Given the description of an element on the screen output the (x, y) to click on. 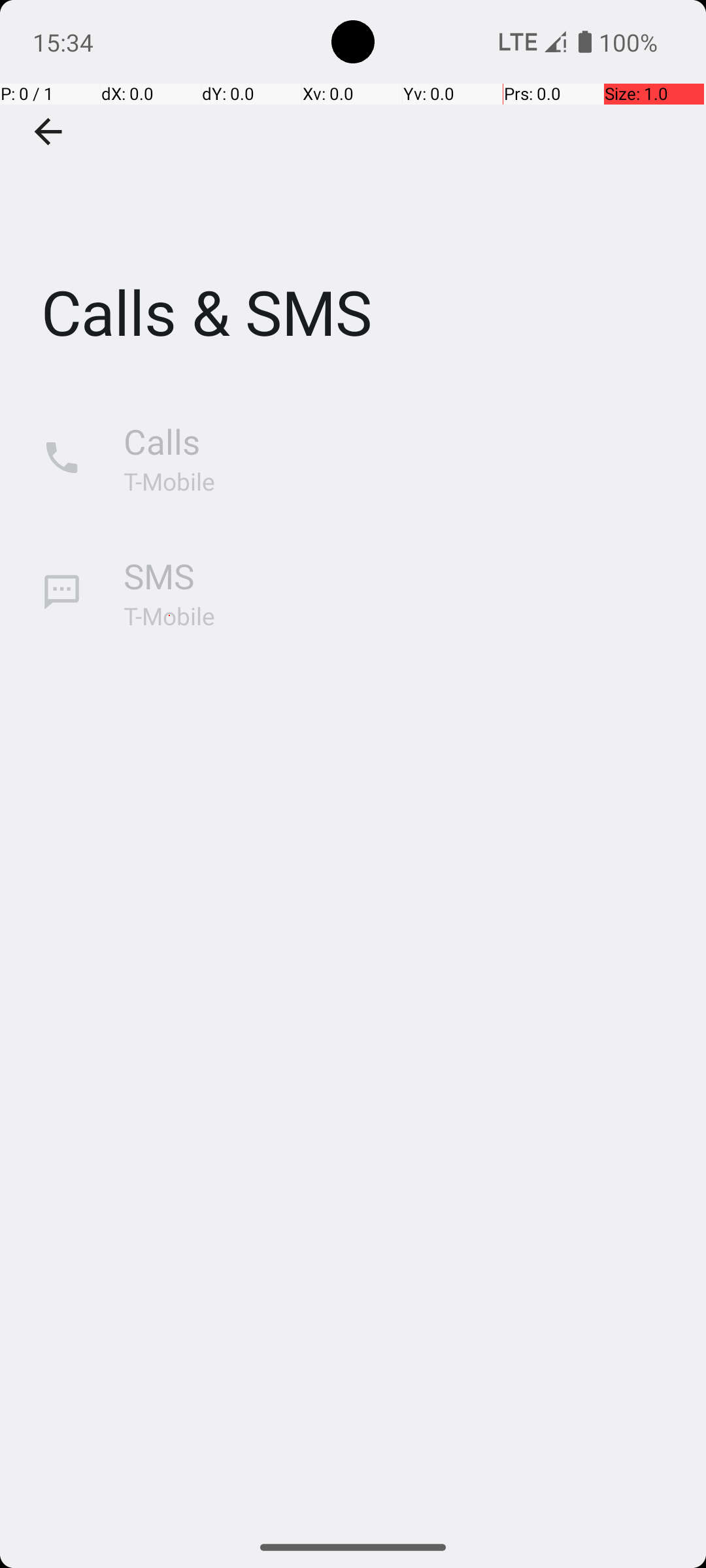
Calls Element type: android.widget.TextView (161, 441)
